Given the description of an element on the screen output the (x, y) to click on. 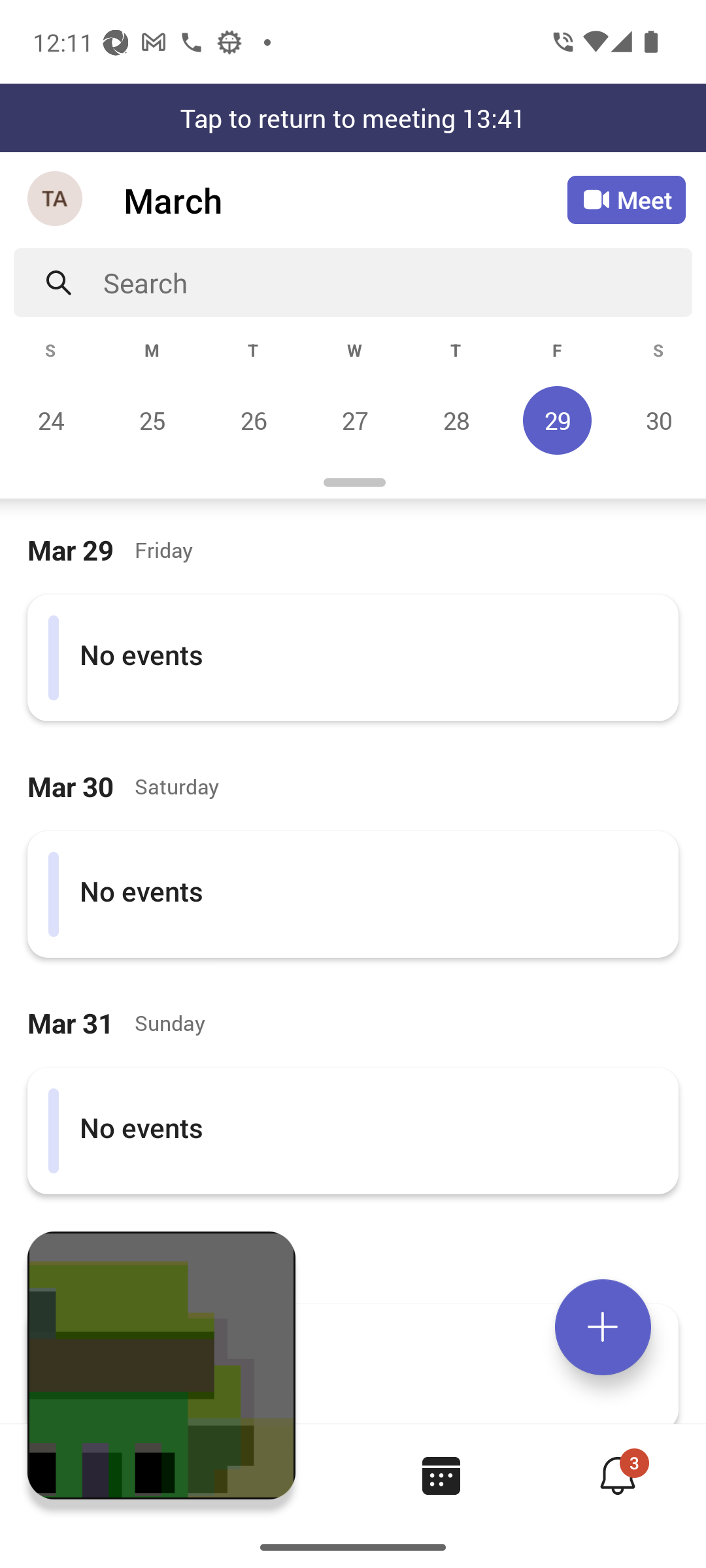
Tap to return to meeting 13:41 (353, 117)
Navigation (56, 199)
Meet Meet now or join with an ID (626, 199)
March March Calendar Agenda View (345, 199)
Search (397, 281)
Sunday, March 24 24 (50, 420)
Monday, March 25 25 (151, 420)
Tuesday, March 26 26 (253, 420)
Wednesday, March 27 27 (354, 420)
Thursday, March 28 28 (455, 420)
Friday, March 29, Selected 29 (556, 420)
Saturday, March 30 30 (656, 420)
Expand meetings menu (602, 1327)
Calendar tab, 3 of 4 (441, 1475)
Activity tab,4 of 4, not selected, 3 new 3 (617, 1475)
